Given the description of an element on the screen output the (x, y) to click on. 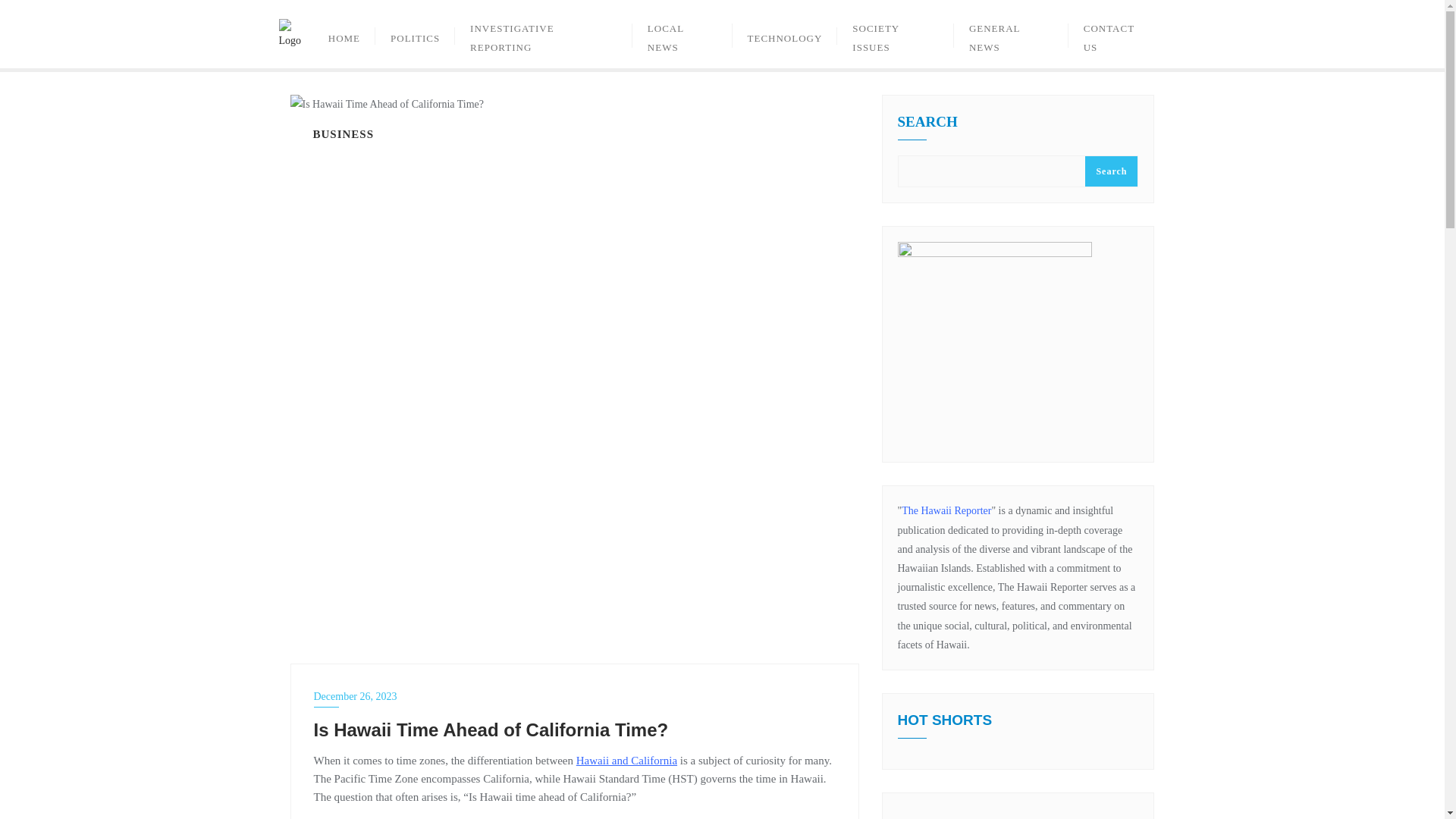
GENERAL NEWS (1010, 33)
CONTACT US (1117, 33)
TECHNOLOGY (785, 33)
HOME (344, 33)
SOCIETY ISSUES (895, 33)
Hawaii and California (626, 760)
December 26, 2023 (574, 696)
POLITICS (414, 33)
The Hawaii Reporter (946, 510)
Search (1110, 171)
LOCAL NEWS (681, 33)
mediaSaaS Hybrid Cloud Systems Integration (1018, 813)
INVESTIGATIVE REPORTING (542, 33)
